Given the description of an element on the screen output the (x, y) to click on. 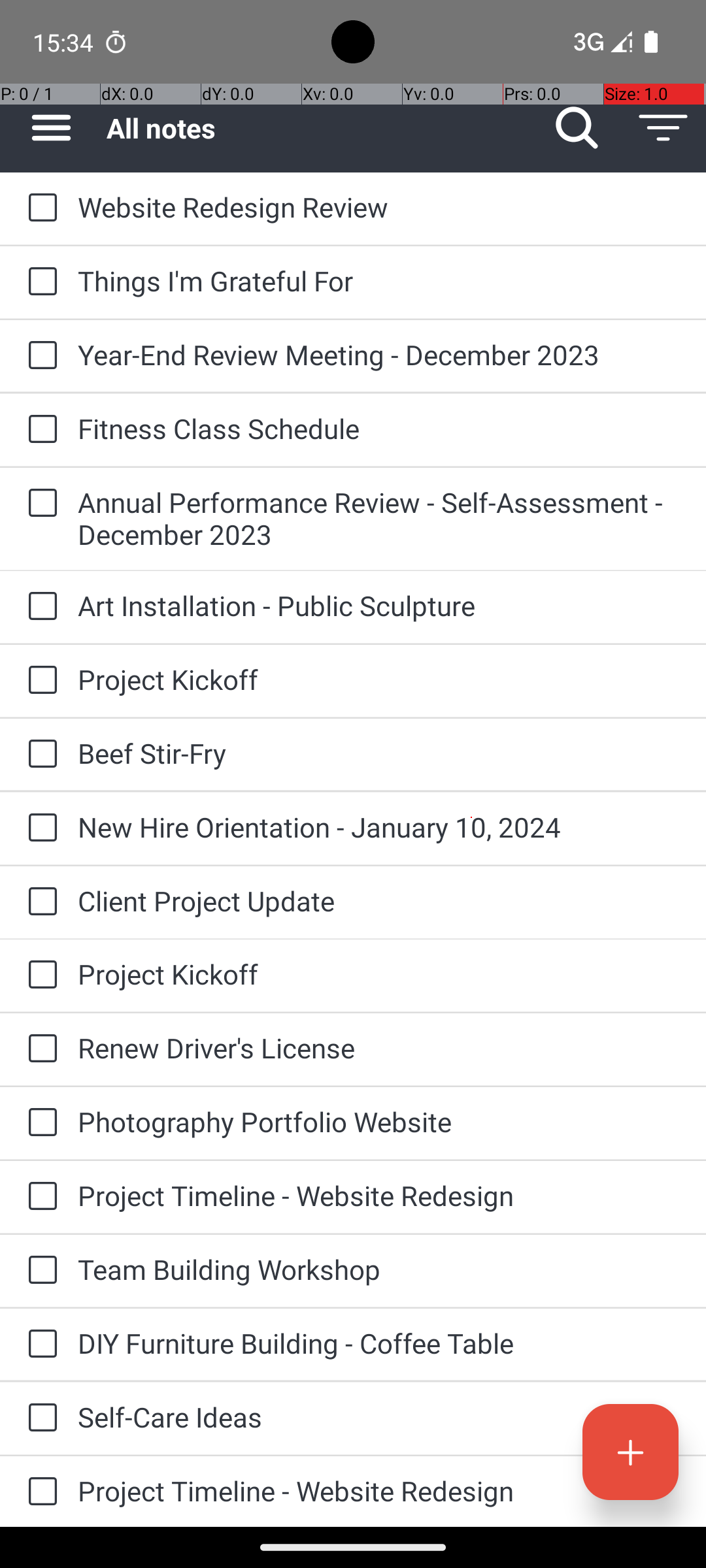
to-do: Website Redesign Review Element type: android.widget.CheckBox (38, 208)
Website Redesign Review Element type: android.widget.TextView (378, 206)
to-do: Things I'm Grateful For Element type: android.widget.CheckBox (38, 282)
Things I'm Grateful For Element type: android.widget.TextView (378, 280)
to-do: Year-End Review Meeting - December 2023 Element type: android.widget.CheckBox (38, 356)
Year-End Review Meeting - December 2023 Element type: android.widget.TextView (378, 354)
to-do: Art Installation - Public Sculpture Element type: android.widget.CheckBox (38, 606)
Art Installation - Public Sculpture Element type: android.widget.TextView (378, 604)
to-do: Project Kickoff Element type: android.widget.CheckBox (38, 680)
Project Kickoff Element type: android.widget.TextView (378, 678)
to-do: Beef Stir-Fry Element type: android.widget.CheckBox (38, 754)
Beef Stir-Fry Element type: android.widget.TextView (378, 752)
to-do: Client Project Update Element type: android.widget.CheckBox (38, 902)
Client Project Update Element type: android.widget.TextView (378, 900)
to-do: Renew Driver's License Element type: android.widget.CheckBox (38, 1049)
to-do: Photography Portfolio Website Element type: android.widget.CheckBox (38, 1123)
Photography Portfolio Website Element type: android.widget.TextView (378, 1121)
to-do: Team Building Workshop Element type: android.widget.CheckBox (38, 1270)
Team Building Workshop Element type: android.widget.TextView (378, 1268)
to-do: DIY Furniture Building - Coffee Table Element type: android.widget.CheckBox (38, 1344)
DIY Furniture Building - Coffee Table Element type: android.widget.TextView (378, 1342)
to-do: Self-Care Ideas Element type: android.widget.CheckBox (38, 1418)
Self-Care Ideas Element type: android.widget.TextView (378, 1416)
